Given the description of an element on the screen output the (x, y) to click on. 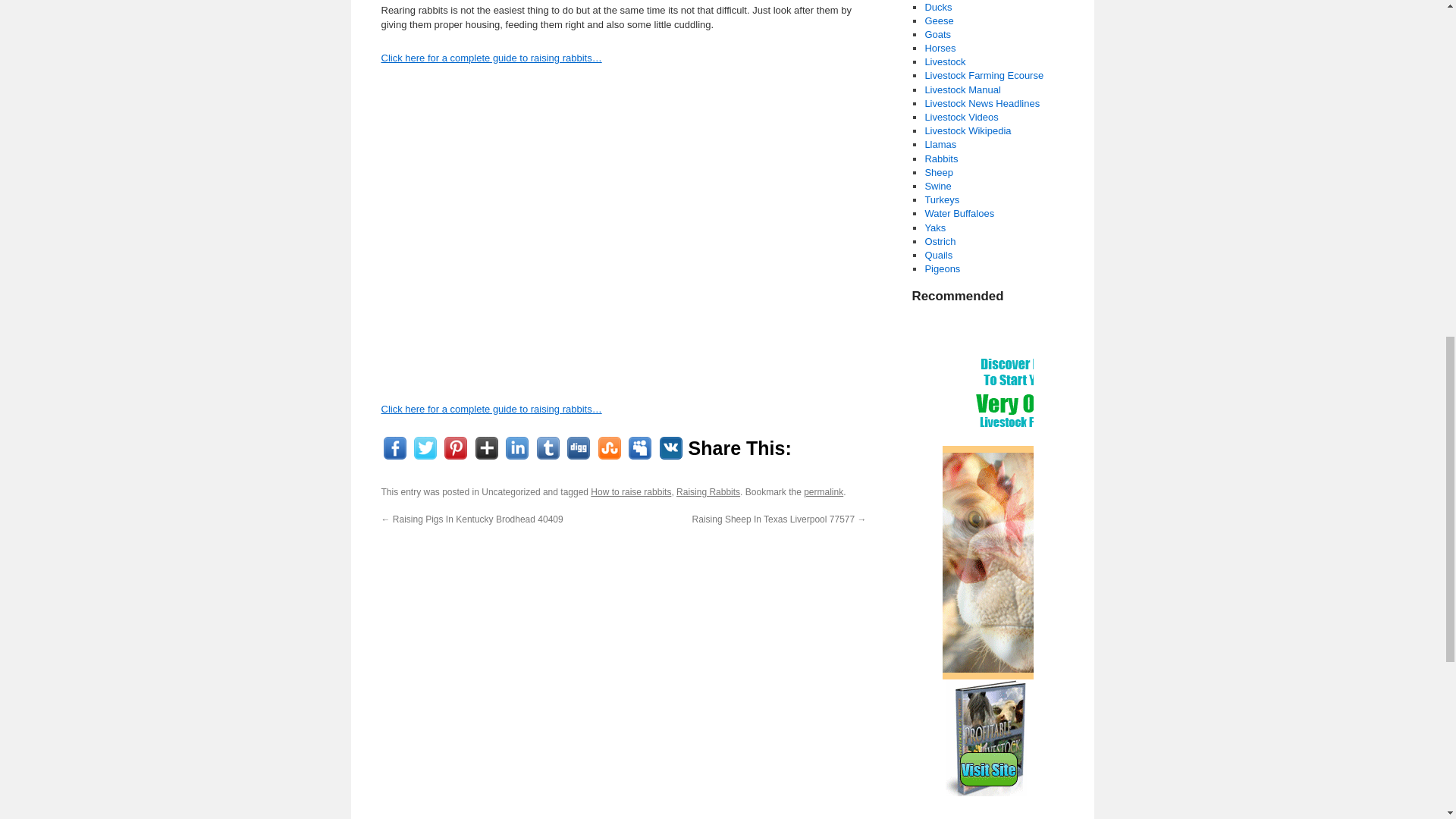
Raising Rabbits (708, 491)
permalink (823, 491)
How to raise rabbits (631, 491)
